Given the description of an element on the screen output the (x, y) to click on. 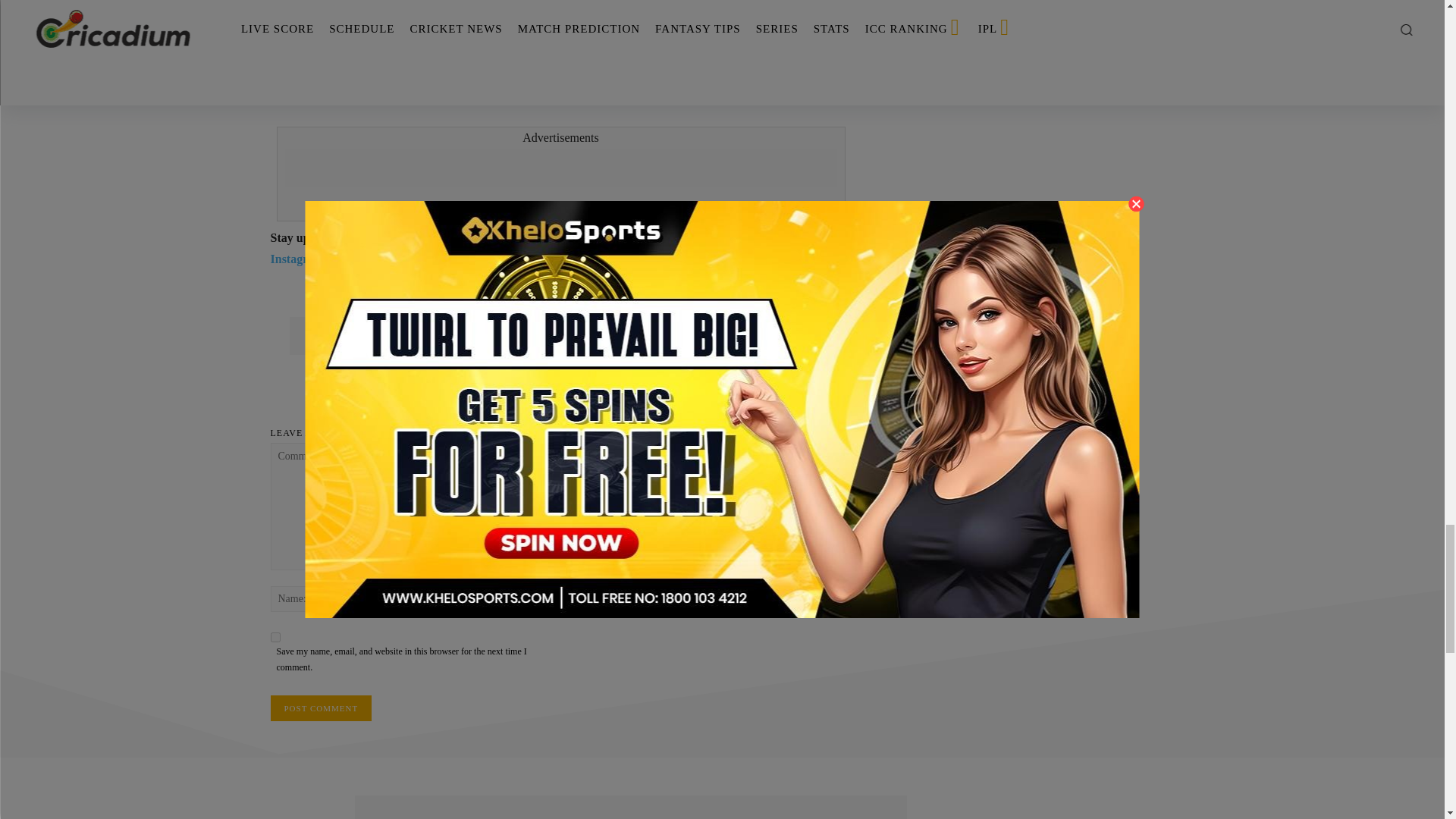
Post Comment (320, 708)
yes (274, 637)
